Given the description of an element on the screen output the (x, y) to click on. 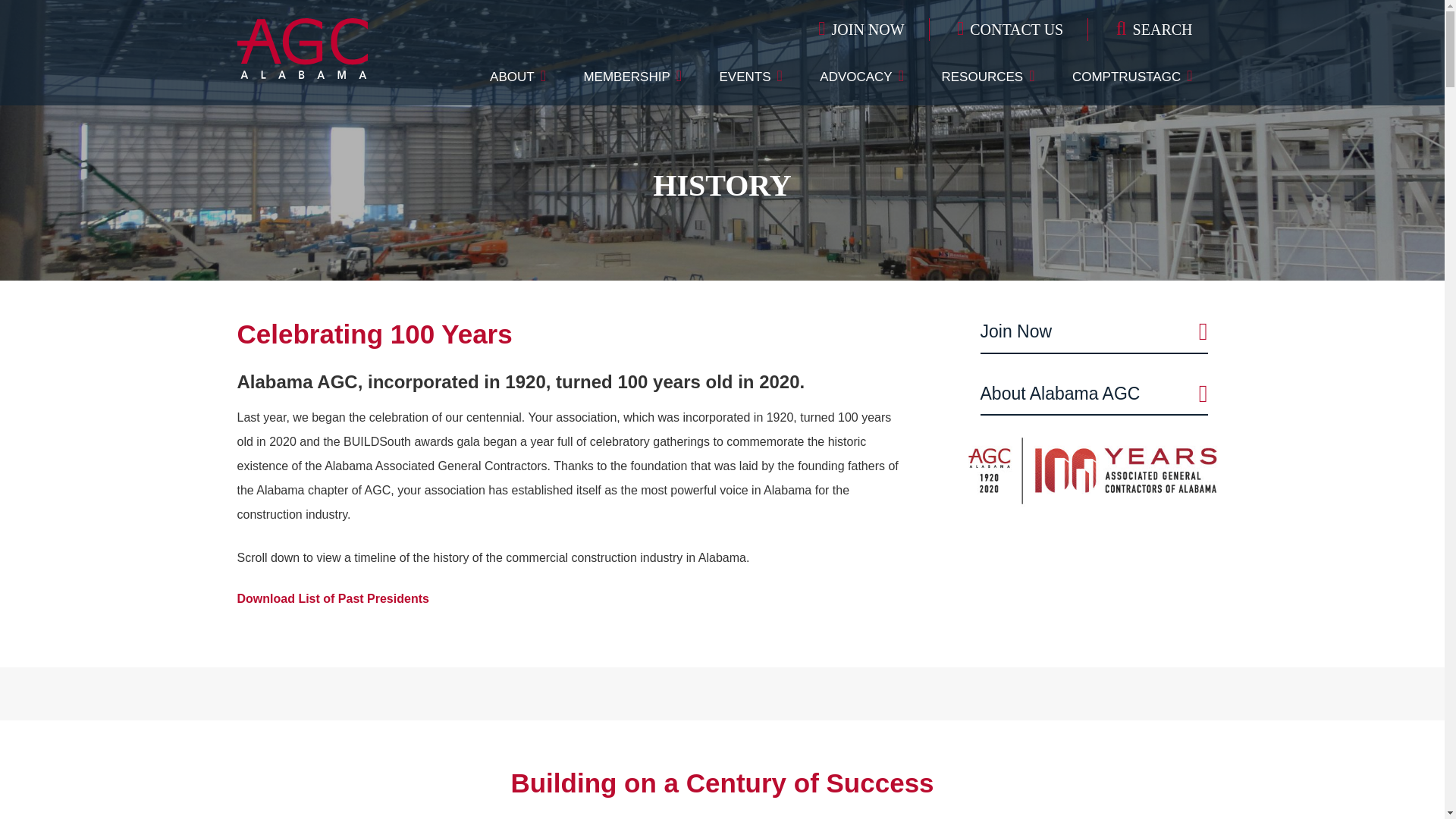
EVENTS (750, 76)
ADVOCACY (861, 76)
RESOURCES (986, 76)
MEMBERSHIP (632, 76)
ABOUT (517, 76)
CONTACT US (1010, 29)
SEARCH (1142, 29)
JOIN NOW (860, 29)
